Given the description of an element on the screen output the (x, y) to click on. 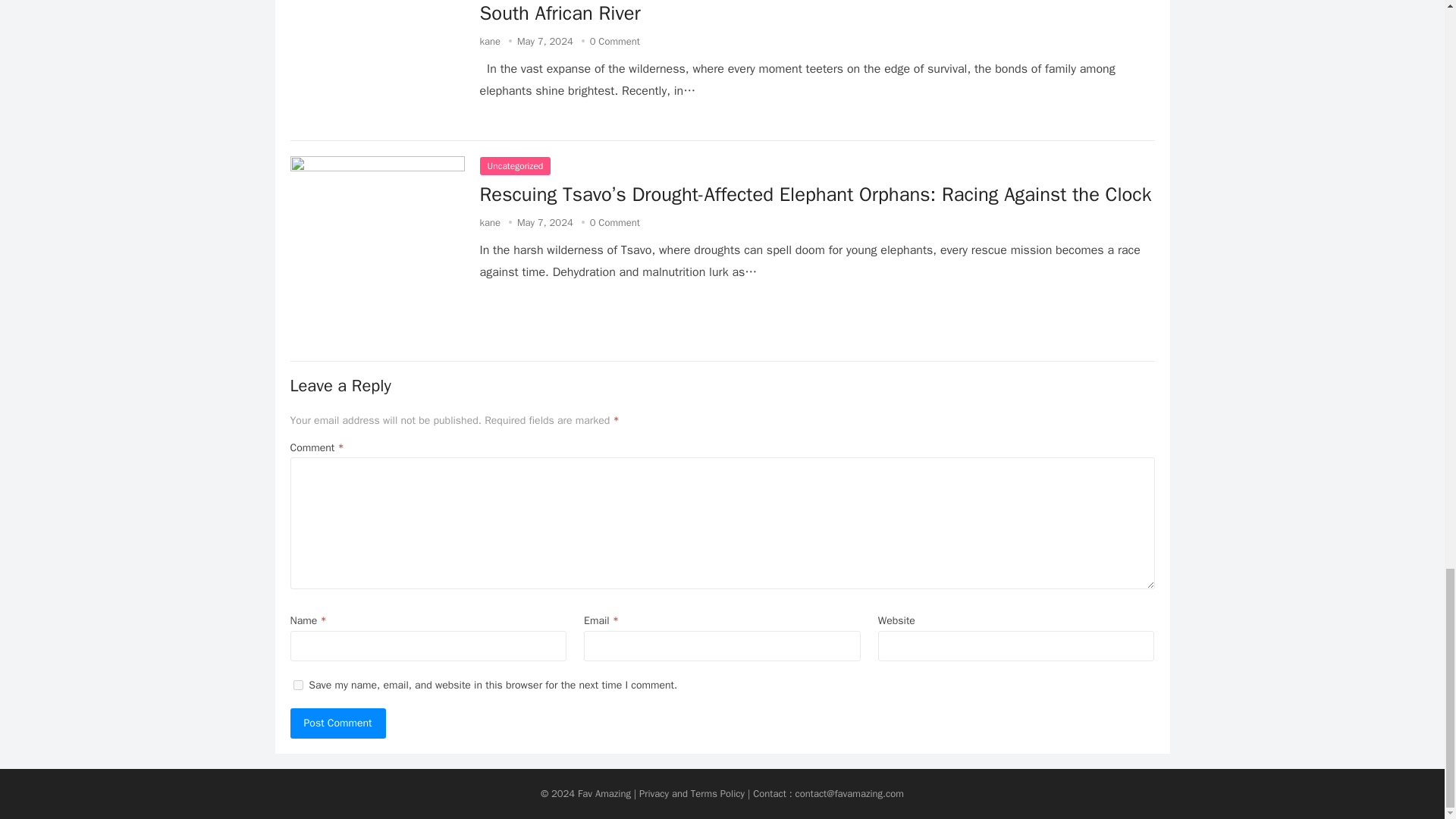
Post Comment (337, 723)
Posts by kane (489, 222)
Posts by kane (489, 41)
yes (297, 685)
